Given the description of an element on the screen output the (x, y) to click on. 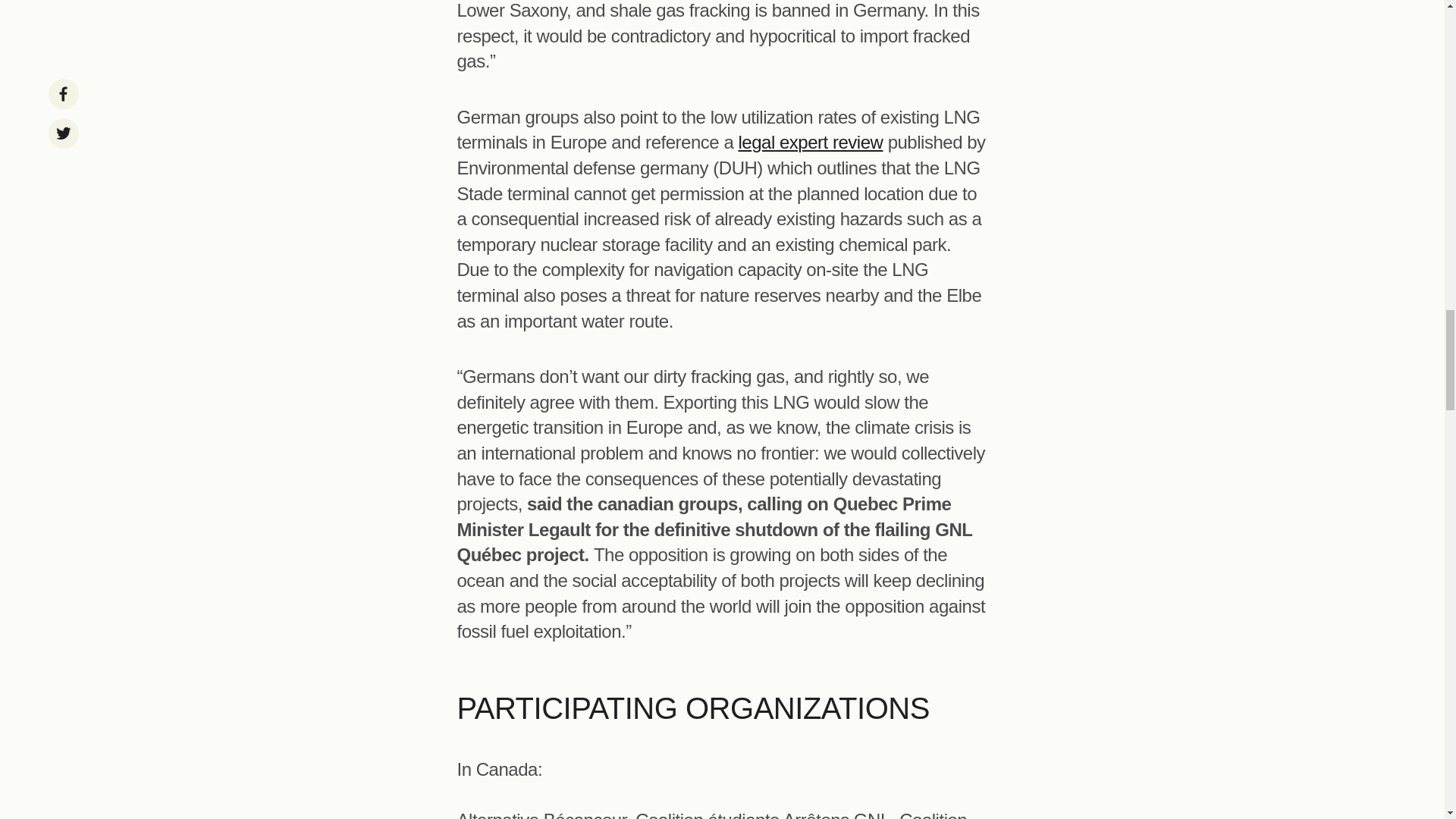
legal expert review (810, 141)
